Given the description of an element on the screen output the (x, y) to click on. 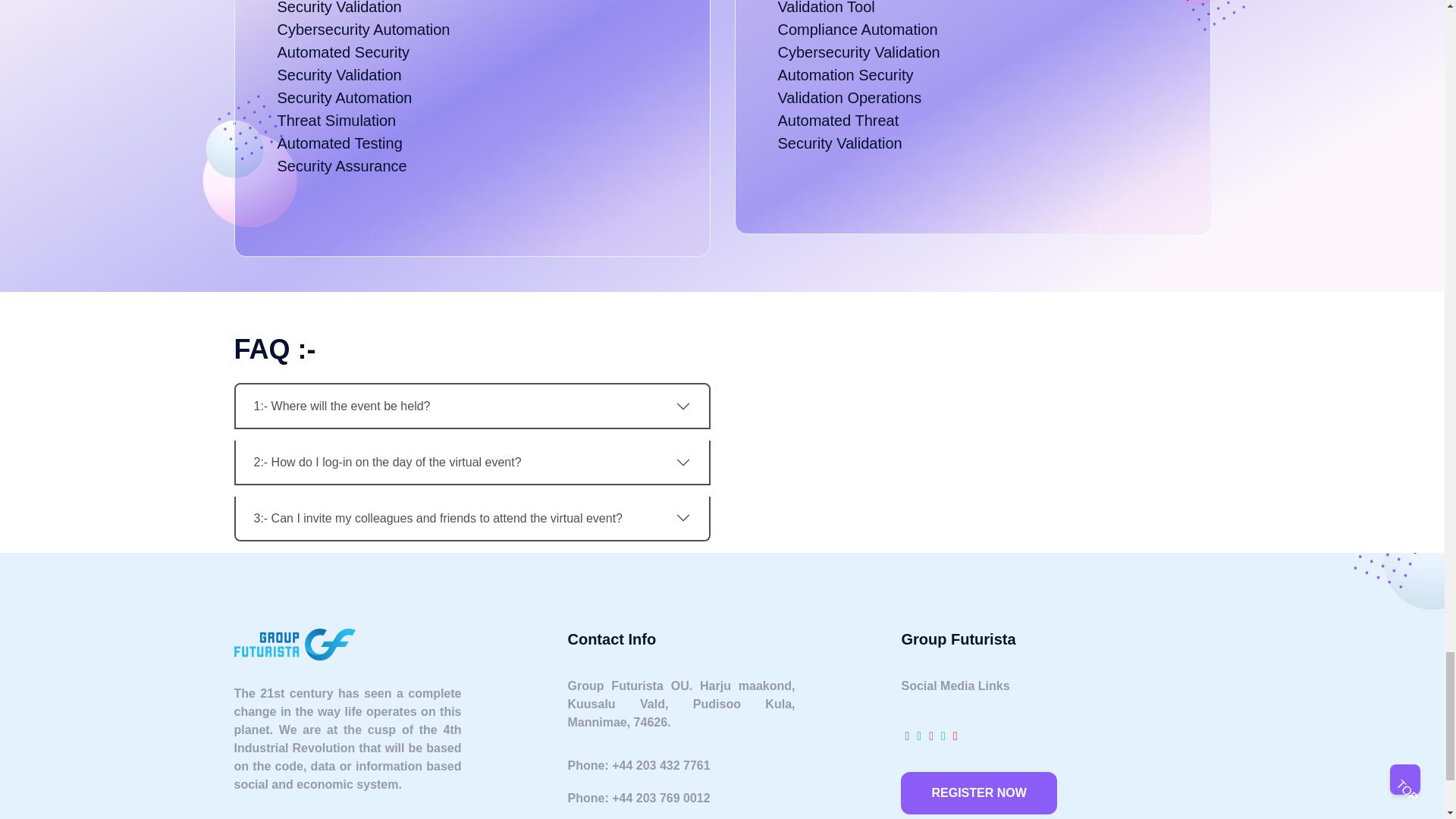
2:- How do I log-in on the day of the virtual event? (470, 462)
1:- Where will the event be held? (470, 405)
REGISTER NOW (979, 793)
